Given the description of an element on the screen output the (x, y) to click on. 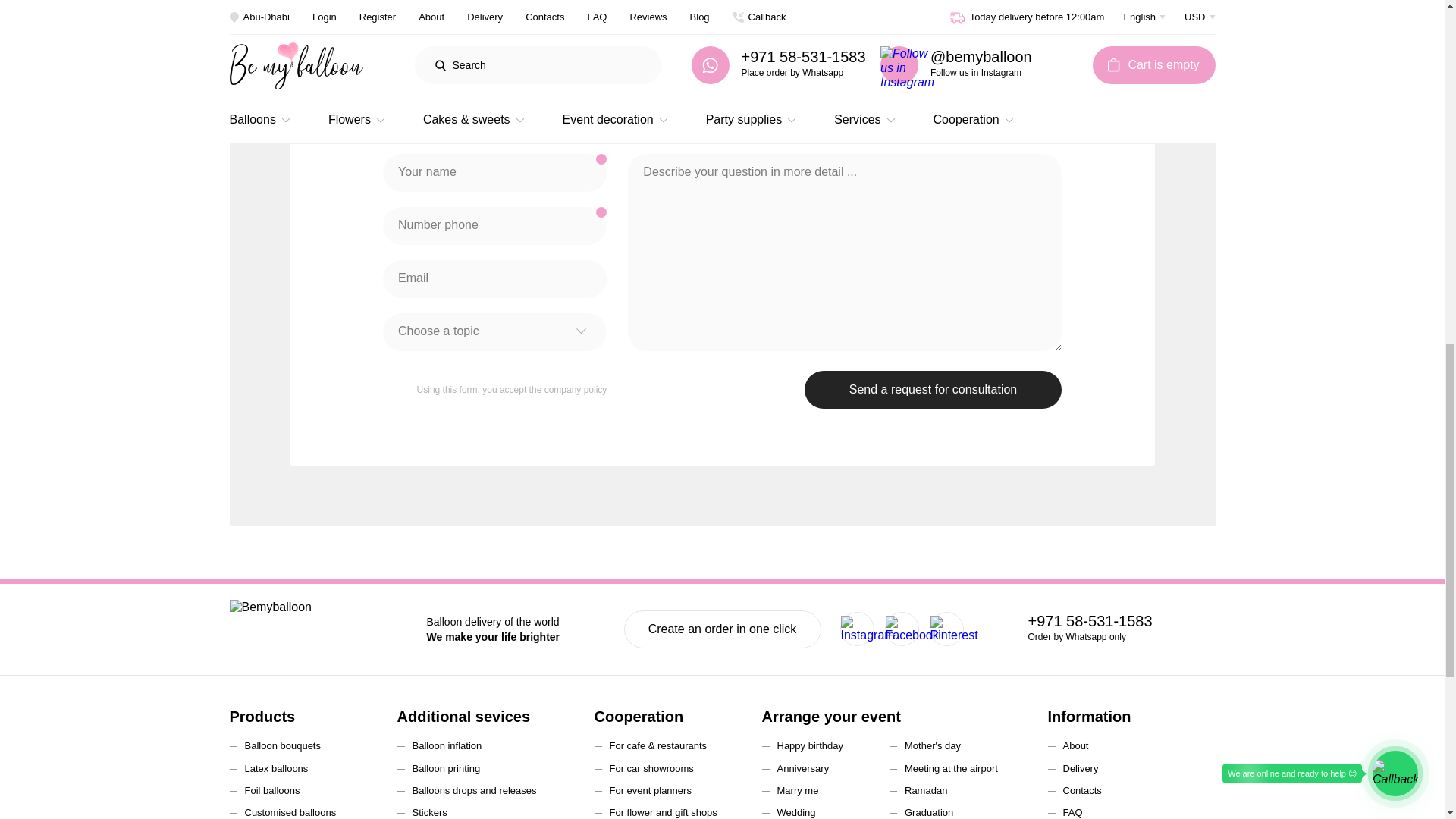
Required to fill out (601, 158)
Required to fill out (601, 212)
